Given the description of an element on the screen output the (x, y) to click on. 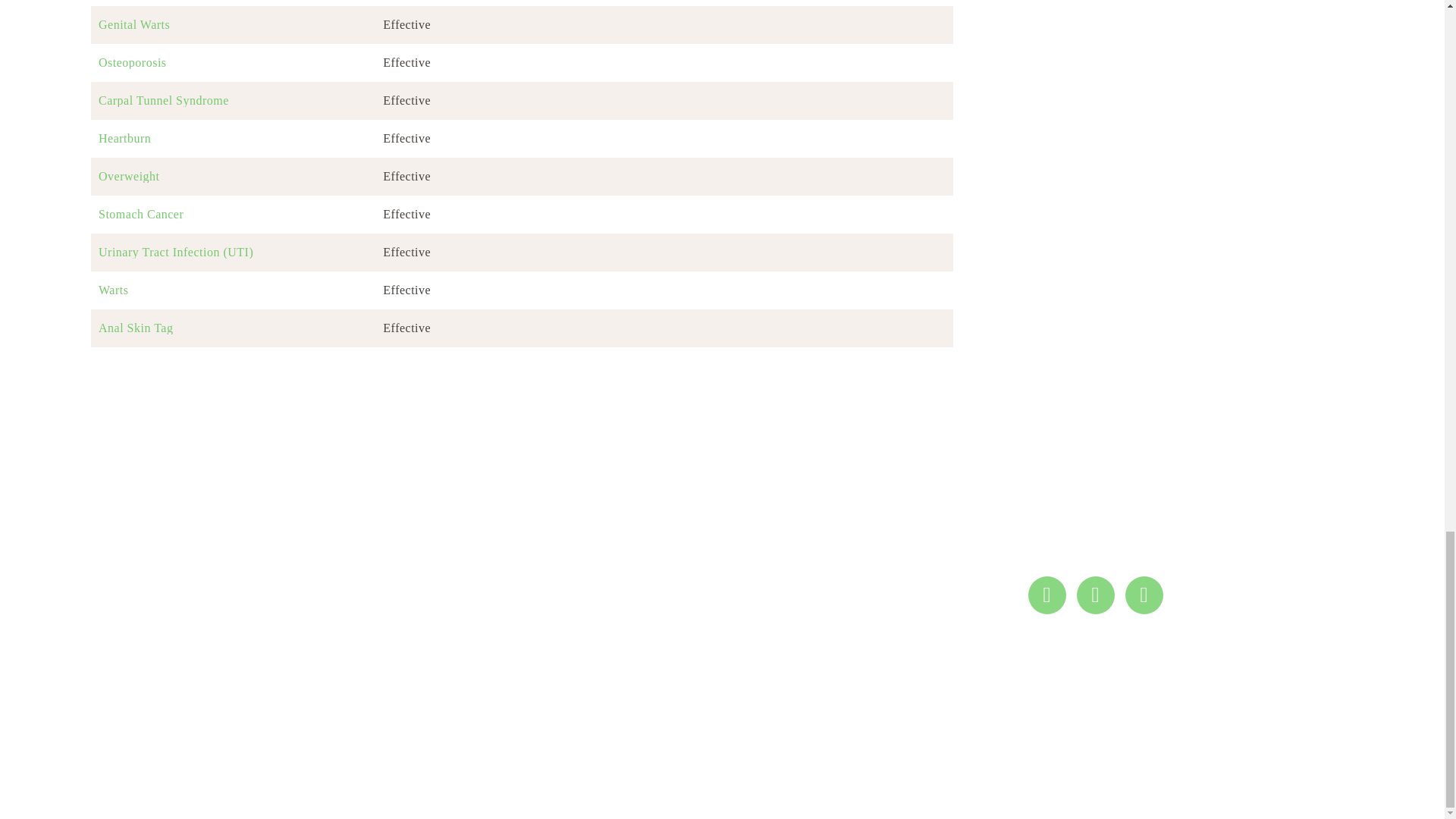
Terms of Use (755, 625)
Share Your Story (755, 534)
Stomach Cancer (232, 214)
Heartburn (232, 138)
Subscribe (291, 593)
Overweight (232, 176)
Blog (755, 570)
Natural Products (755, 515)
Osteoporosis (232, 62)
About Us (755, 588)
